Given the description of an element on the screen output the (x, y) to click on. 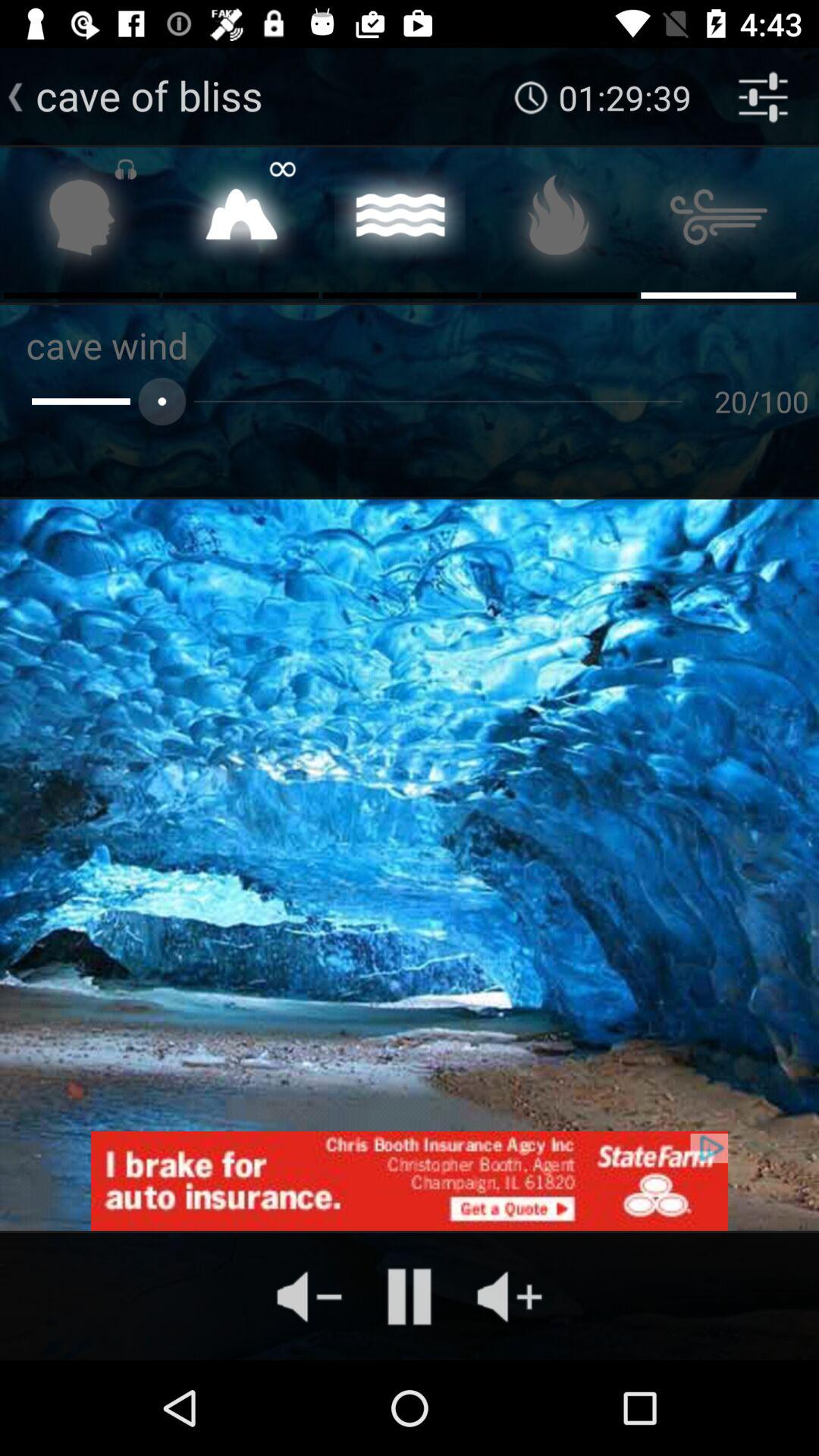
seach page (81, 221)
